Given the description of an element on the screen output the (x, y) to click on. 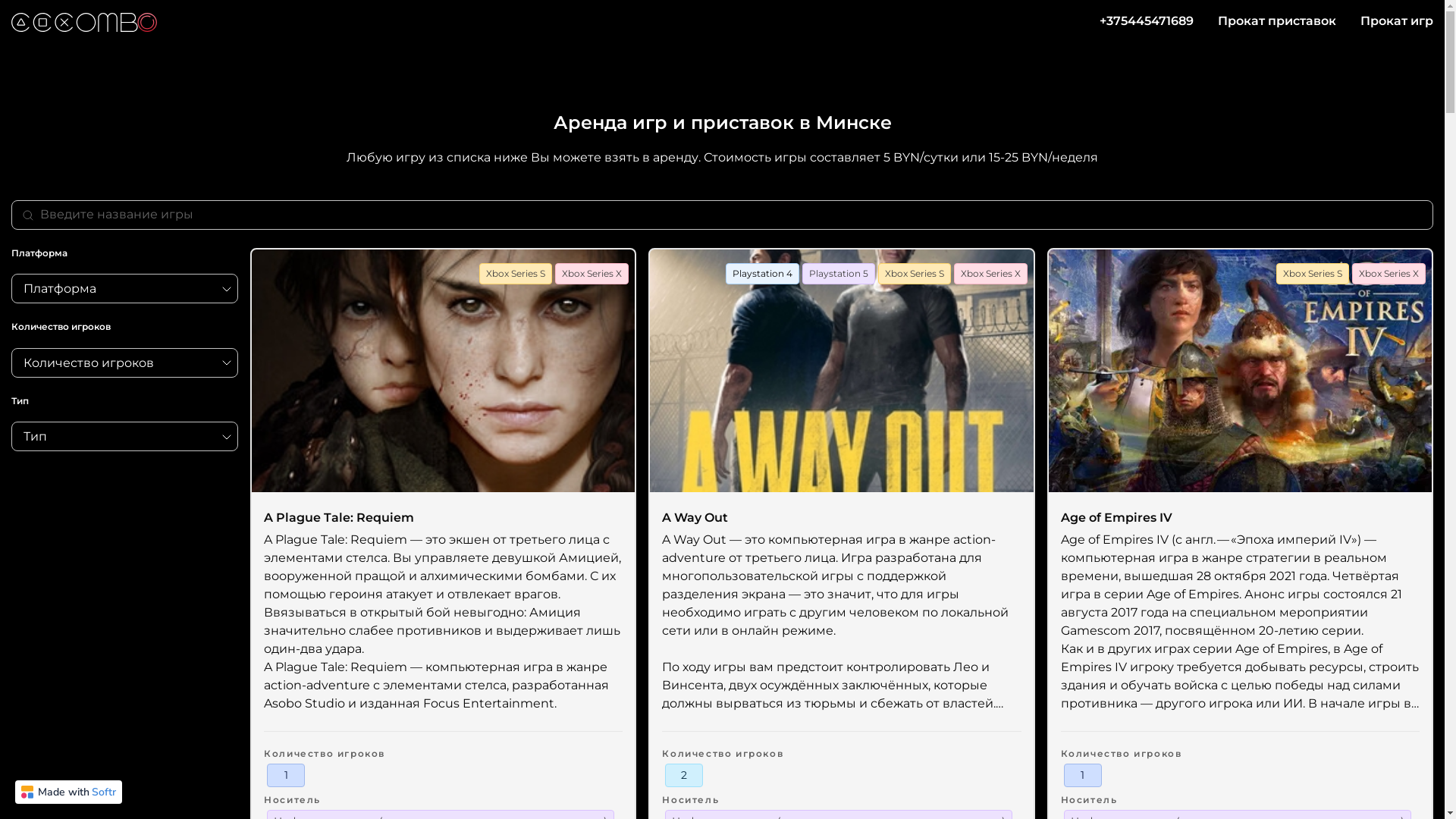
+375445471689 Element type: text (1146, 21)
Made with
Softr Element type: text (68, 791)
